Given the description of an element on the screen output the (x, y) to click on. 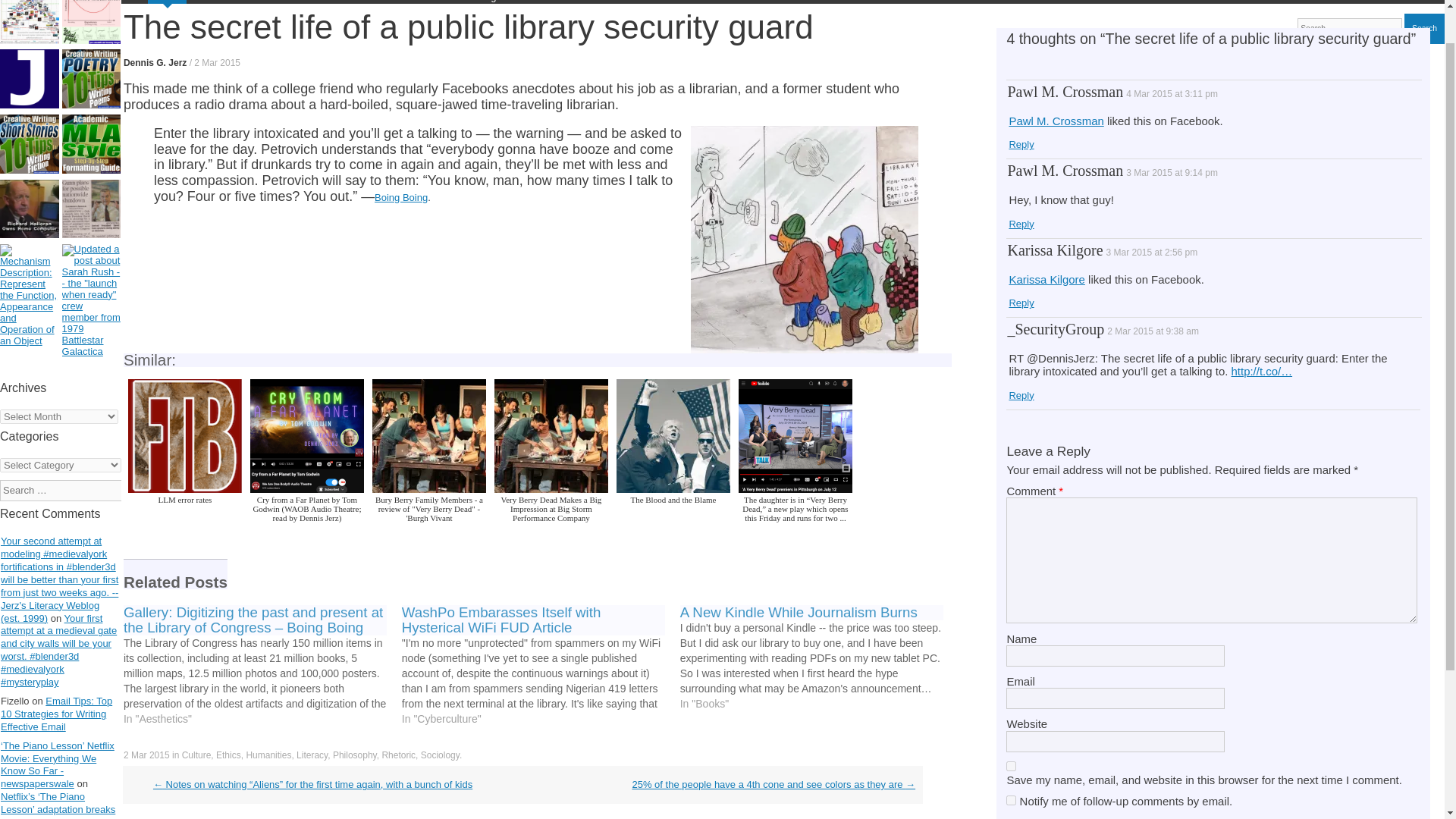
Journalism (305, 2)
What's a namber? (29, 80)
Jerz (134, 2)
Culture (167, 2)
Humanities (249, 2)
Literature (357, 2)
WashPo Embarasses Itself with Hysterical WiFi FUD Article (501, 619)
subscribe (1011, 800)
A New Kindle While Journalism Burns (798, 611)
yes (1011, 766)
Ethics (203, 2)
A New Kindle While Journalism Burns (818, 658)
WashPo Embarasses Itself with Hysterical WiFi FUD Article (540, 665)
Media (399, 2)
